Given the description of an element on the screen output the (x, y) to click on. 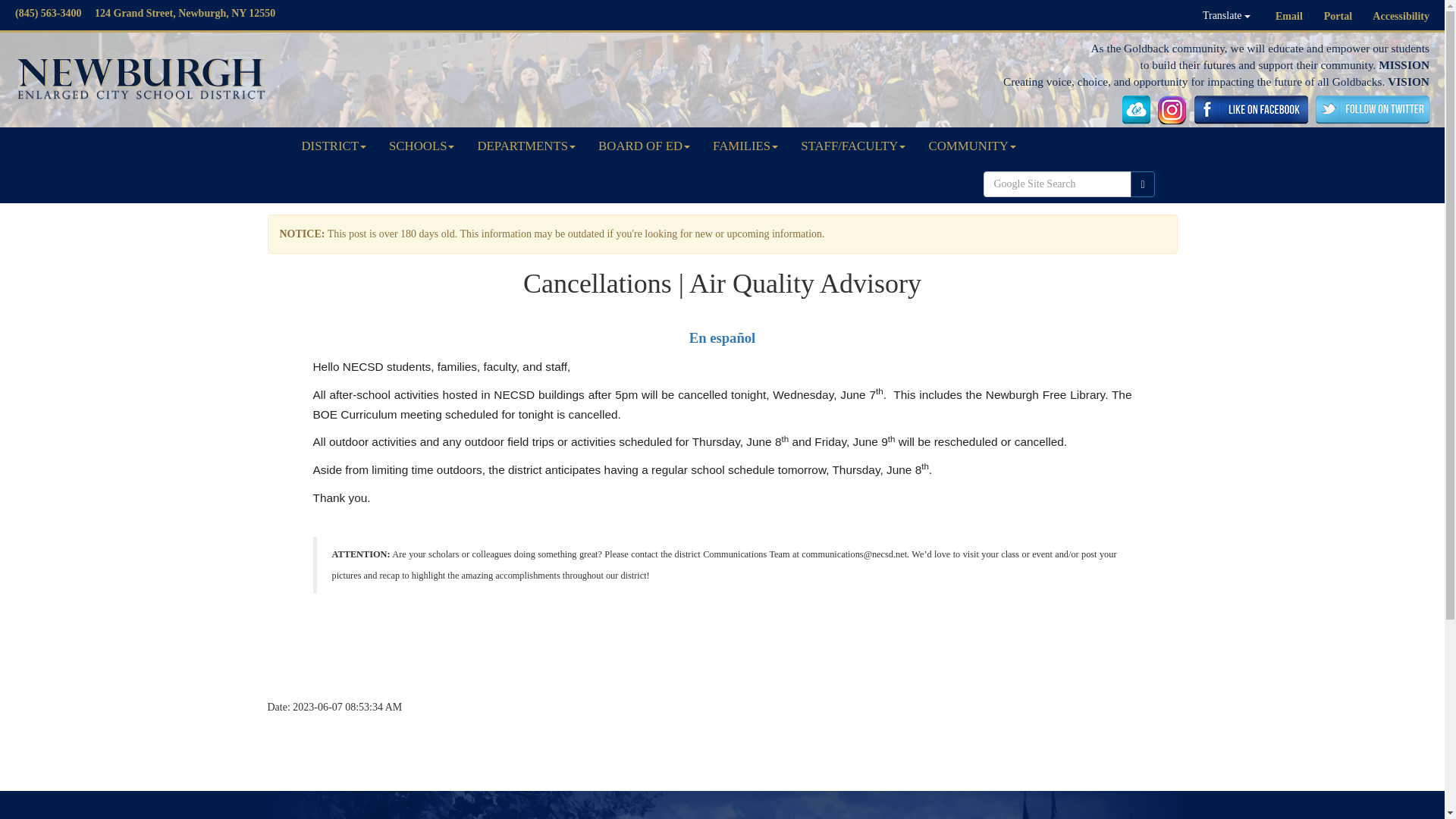
SCHOOLS (421, 146)
Portal (1337, 16)
Accessibility (1401, 16)
DISTRICT (333, 146)
Email (1289, 16)
Translate (1226, 15)
